Given the description of an element on the screen output the (x, y) to click on. 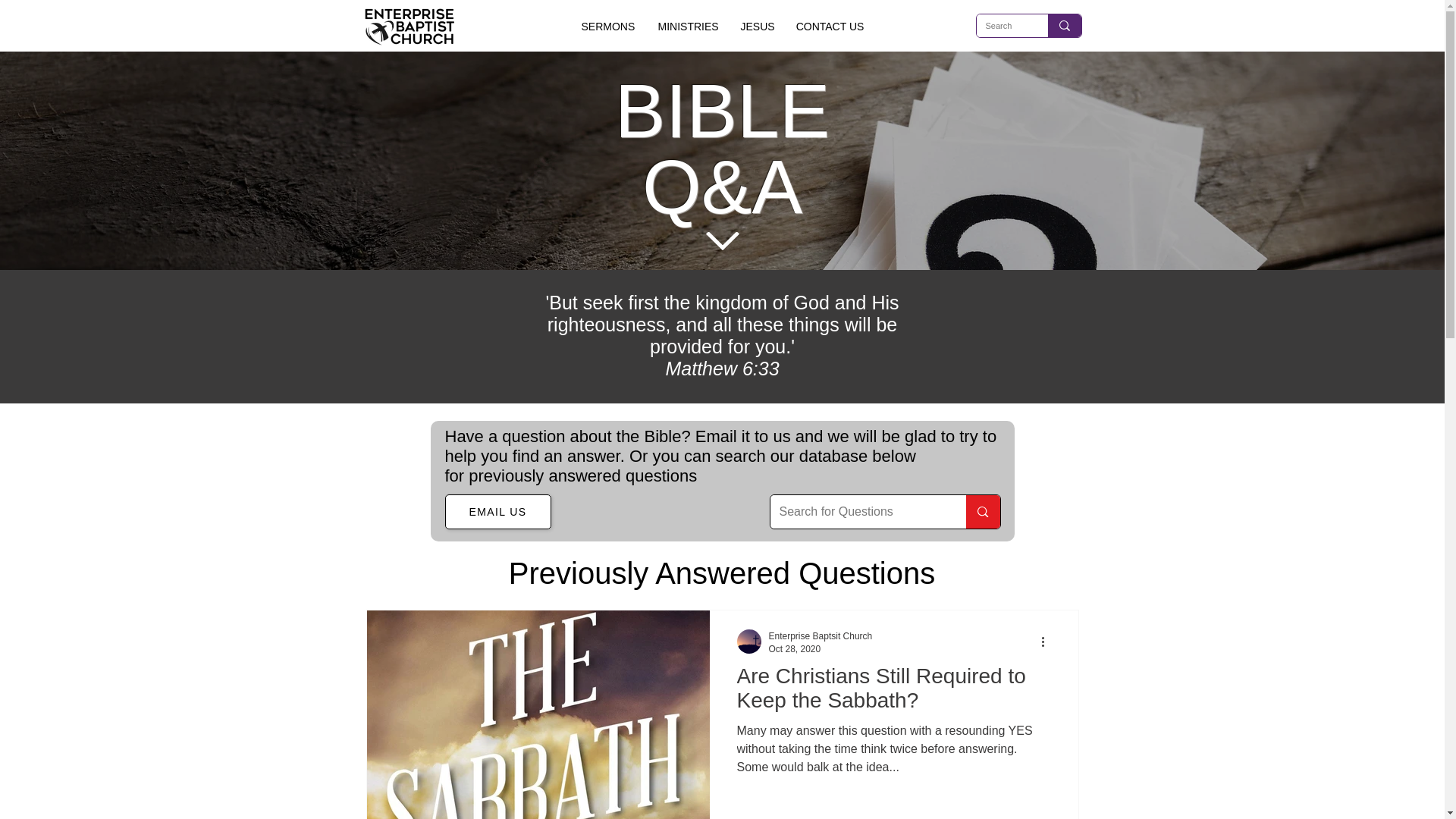
EBC Thicker Logo.png (408, 26)
Oct 28, 2020 (794, 647)
JESUS (755, 26)
MINISTRIES (687, 26)
Enterprise Baptsit Church (820, 636)
EMAIL US (497, 511)
CONTACT US (830, 26)
Enterprise Baptsit Church (820, 635)
Are Christians Still Required to Keep the Sabbath? (893, 692)
SERMONS (607, 26)
